Given the description of an element on the screen output the (x, y) to click on. 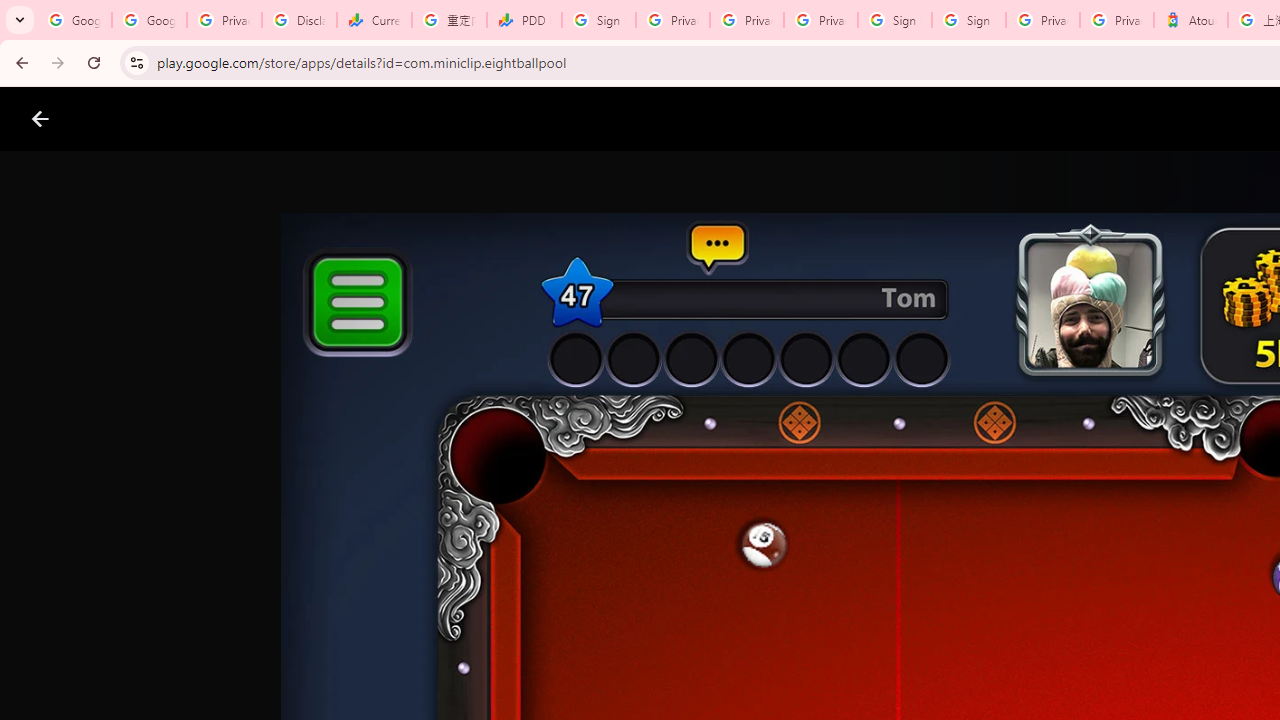
Apps (321, 119)
Privacy Checkup (747, 20)
Close screenshot viewer (39, 119)
PDD Holdings Inc - ADR (PDD) Price & News - Google Finance (523, 20)
Sign in - Google Accounts (894, 20)
Games (248, 119)
More info about this content rating (1013, 678)
Currencies - Google Finance (374, 20)
